Given the description of an element on the screen output the (x, y) to click on. 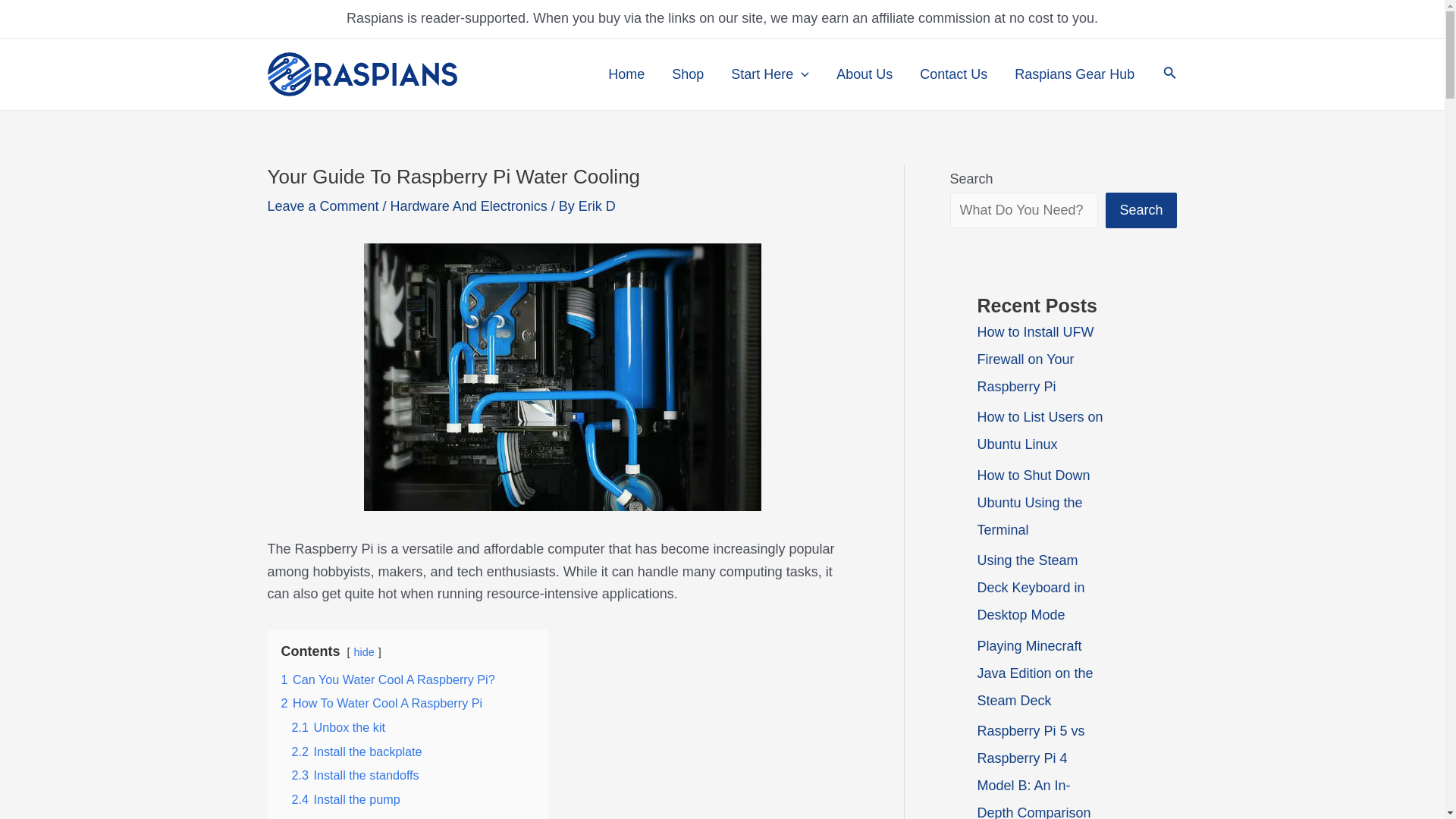
Leave a Comment (322, 206)
Start Here (769, 73)
Your Guide To Raspberry Pi Water Cooling (562, 377)
View all posts by Erik D (596, 206)
Shop (687, 73)
Home (626, 73)
About Us (863, 73)
Search (1169, 74)
Hardware And Electronics (468, 206)
Contact Us (953, 73)
Raspians Gear Hub (1074, 73)
